Given the description of an element on the screen output the (x, y) to click on. 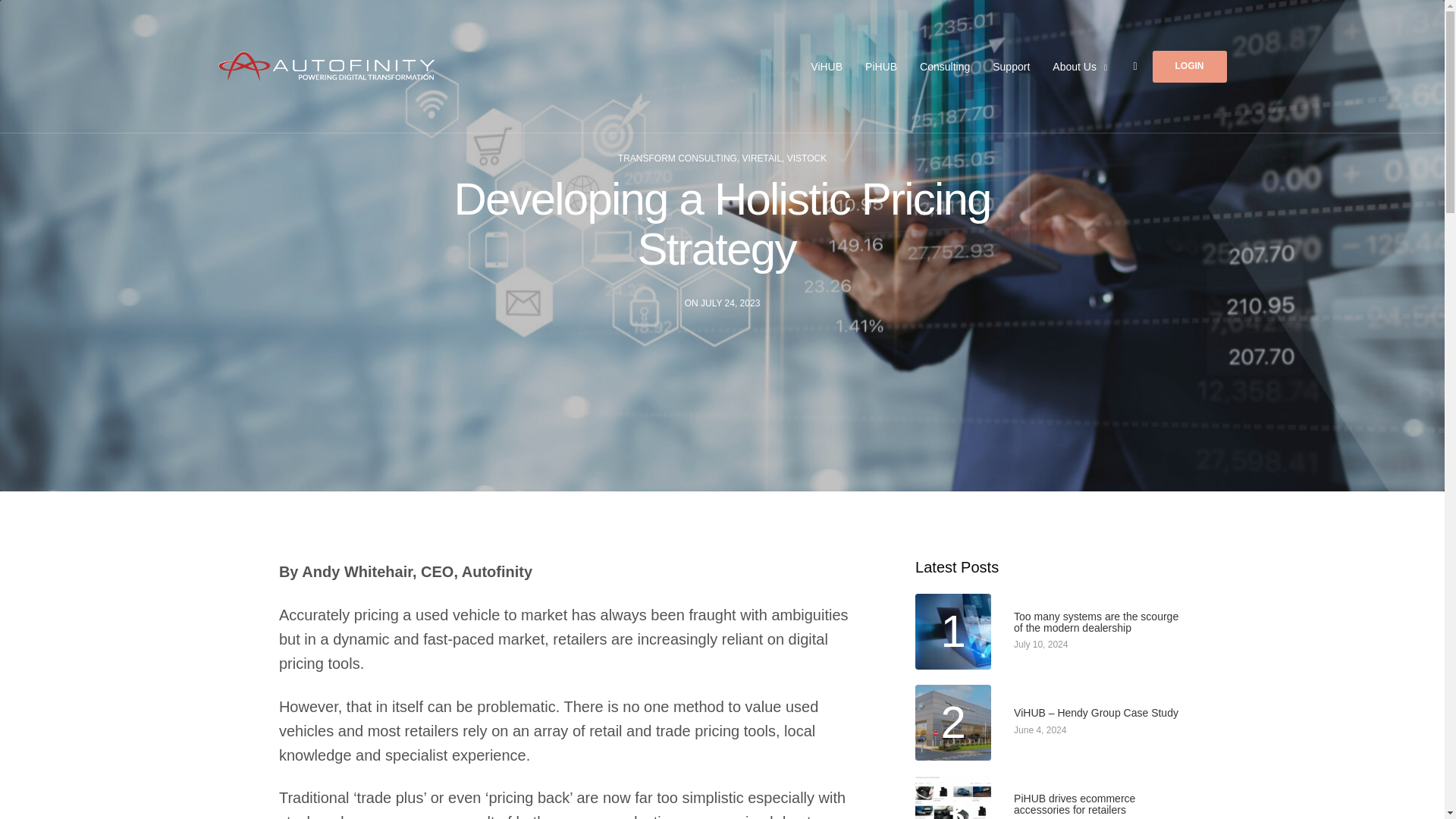
Autofinity (326, 66)
Consulting (944, 65)
VIRETAIL (761, 157)
Cookies (1240, 714)
Support (1010, 65)
About Us (1079, 65)
2 (953, 722)
TRANSFORM CONSULTING (676, 157)
LOGIN (1190, 65)
1 (953, 631)
PiHUB drives ecommerce accessories for retailers (1096, 804)
Accessibility (1169, 714)
Too many systems are the scourge of the modern dealership (1096, 622)
LOGIN (1190, 65)
3 (953, 797)
